Given the description of an element on the screen output the (x, y) to click on. 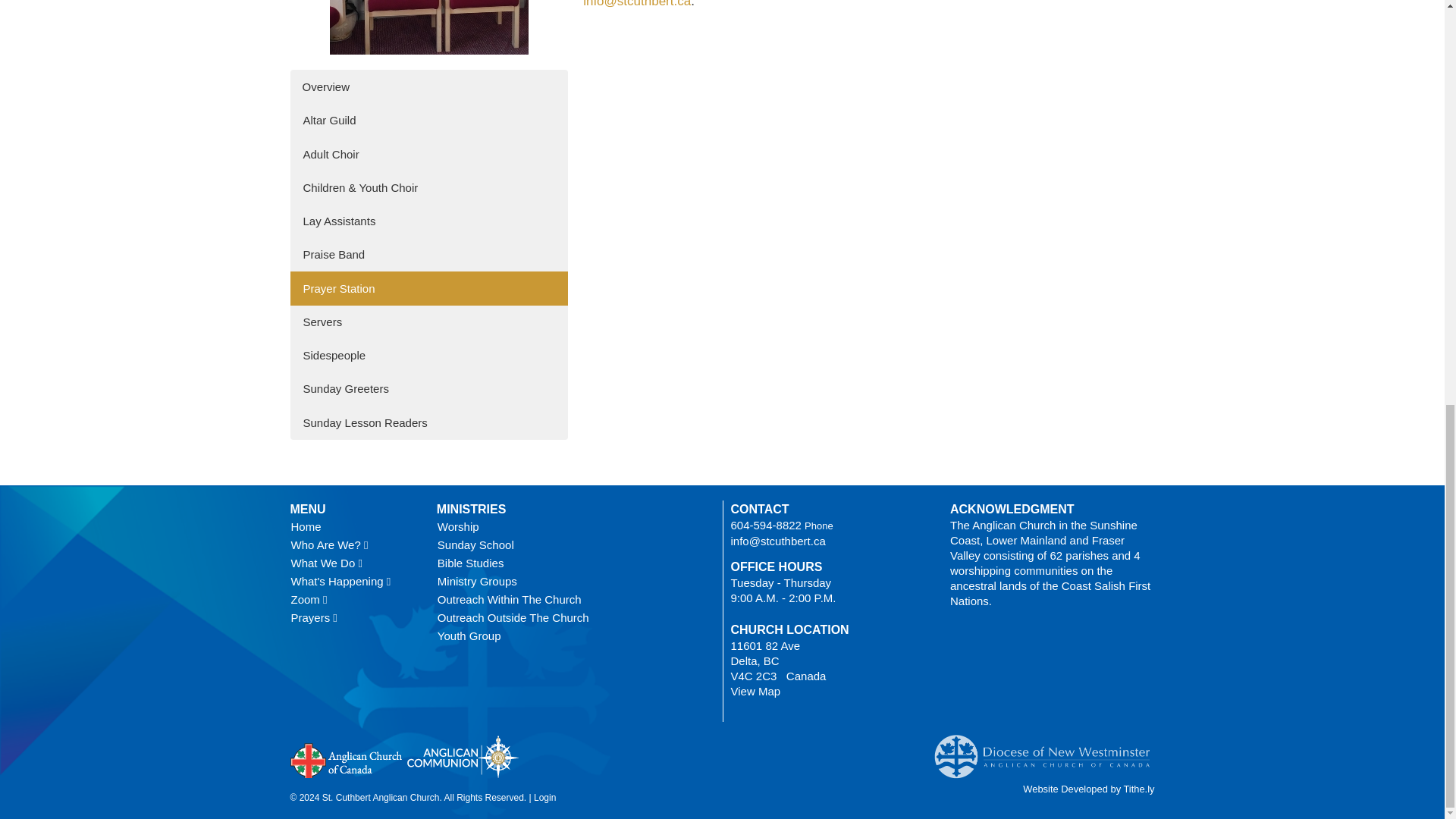
Adult Choir (428, 153)
Praise Band (428, 254)
Overview (428, 86)
Altar Guild (428, 120)
Lay Assistants (428, 220)
